Given the description of an element on the screen output the (x, y) to click on. 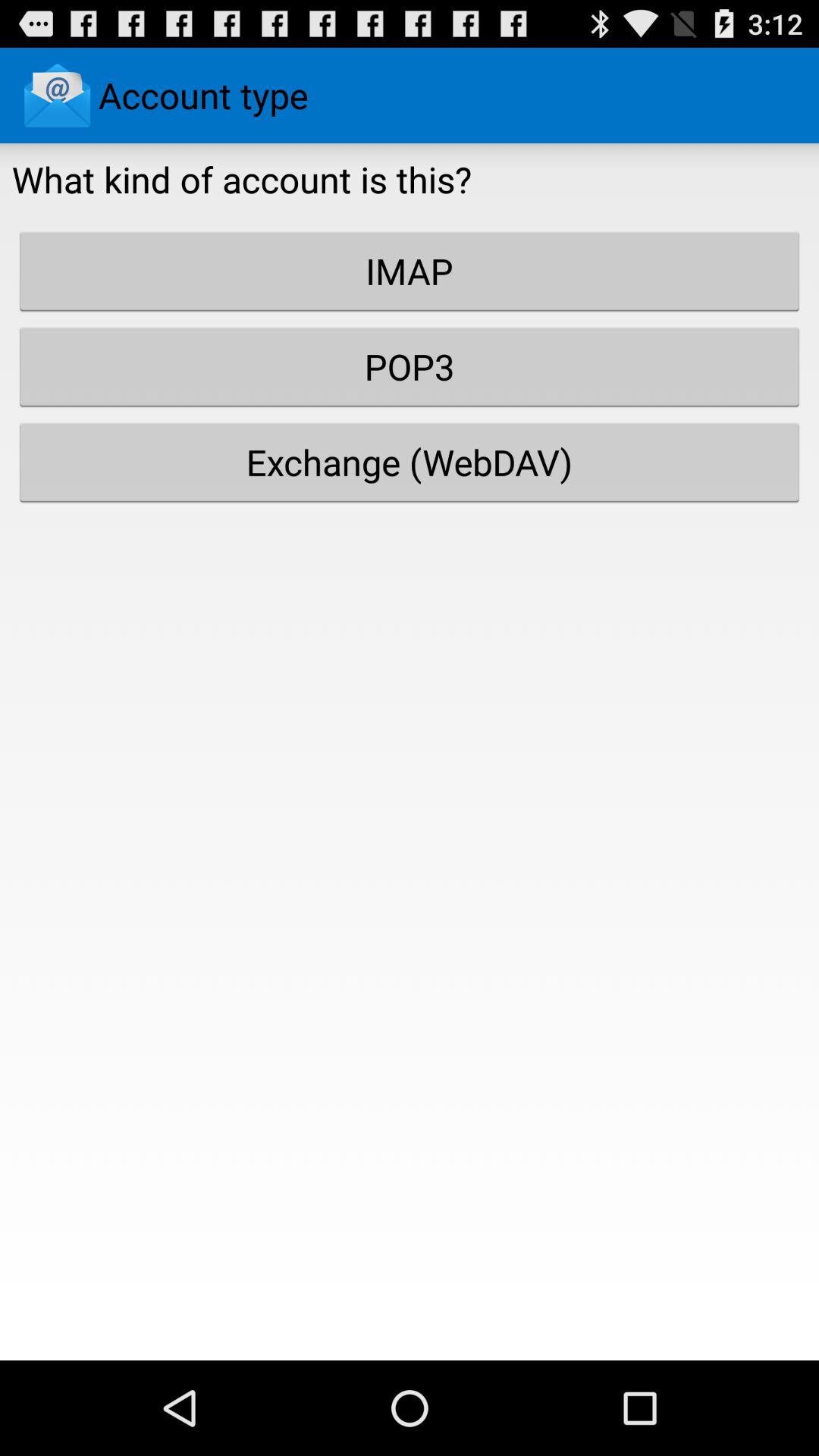
open the icon below the imap button (409, 366)
